Given the description of an element on the screen output the (x, y) to click on. 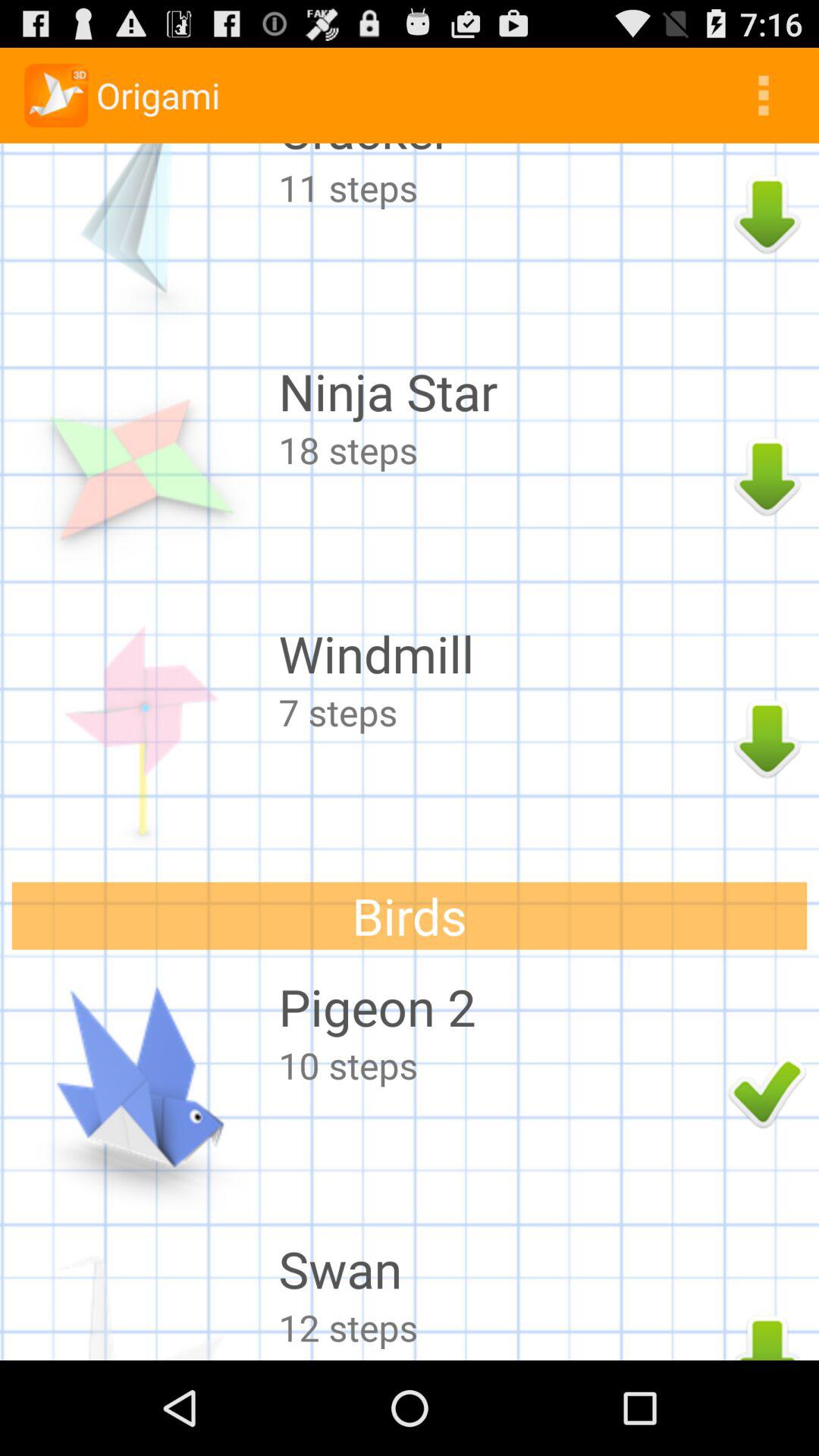
swipe until the windmill item (498, 653)
